Given the description of an element on the screen output the (x, y) to click on. 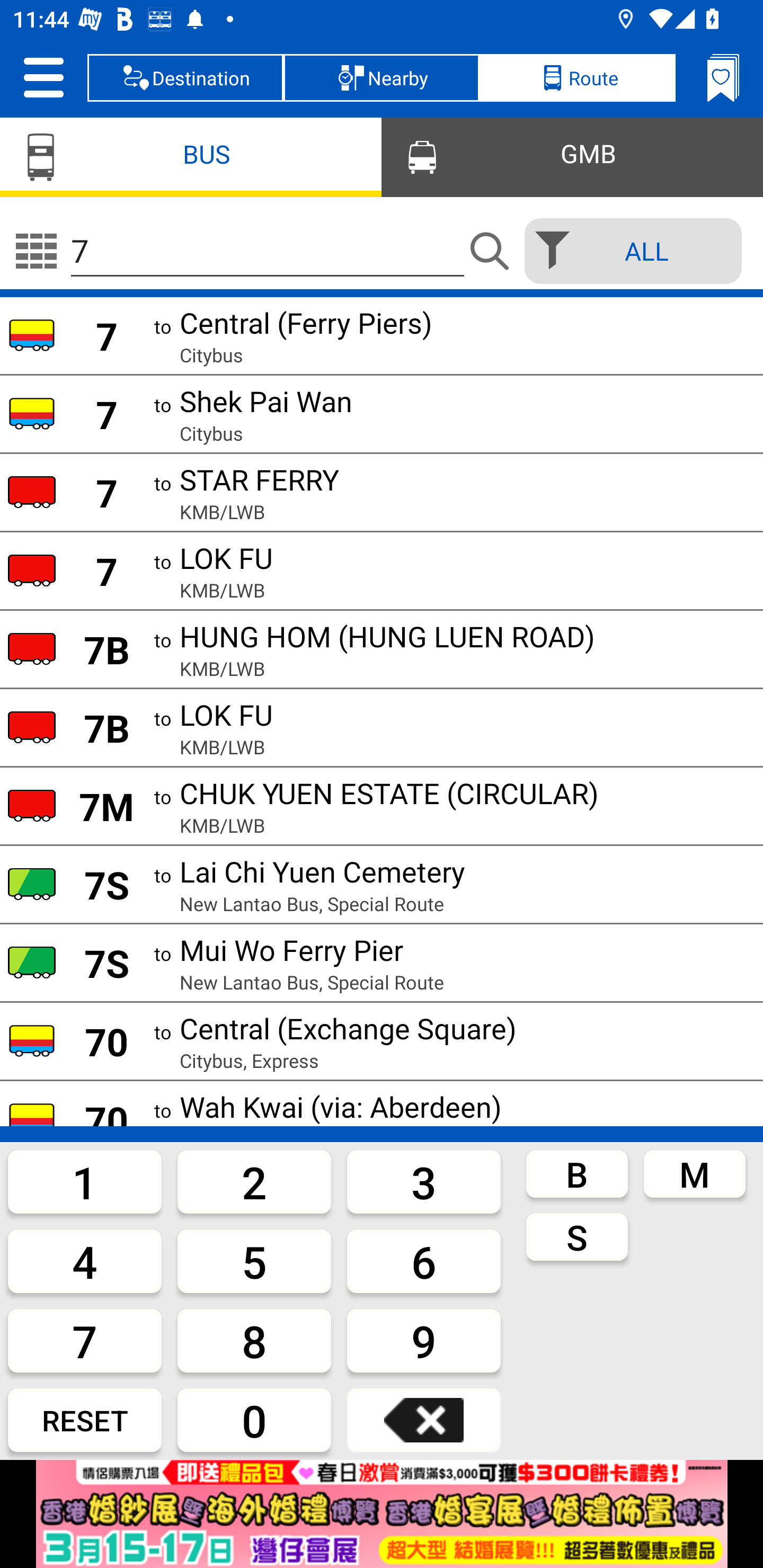
Destination (185, 77)
Nearby (381, 77)
Route, selected (577, 77)
Bookmarks (723, 77)
Setting (43, 77)
BUS, selected (190, 155)
GMB (572, 155)
selected ALL (627, 250)
no (36, 250)
B M (635, 1173)
1 (84, 1181)
2 (254, 1181)
3 (423, 1181)
B (576, 1173)
M (694, 1173)
S (635, 1236)
S (576, 1236)
4 (84, 1261)
5 (254, 1261)
6 (423, 1261)
7 (84, 1340)
8 (254, 1340)
9 (423, 1340)
RESET (84, 1419)
0 (254, 1419)
index (381, 1513)
